Given the description of an element on the screen output the (x, y) to click on. 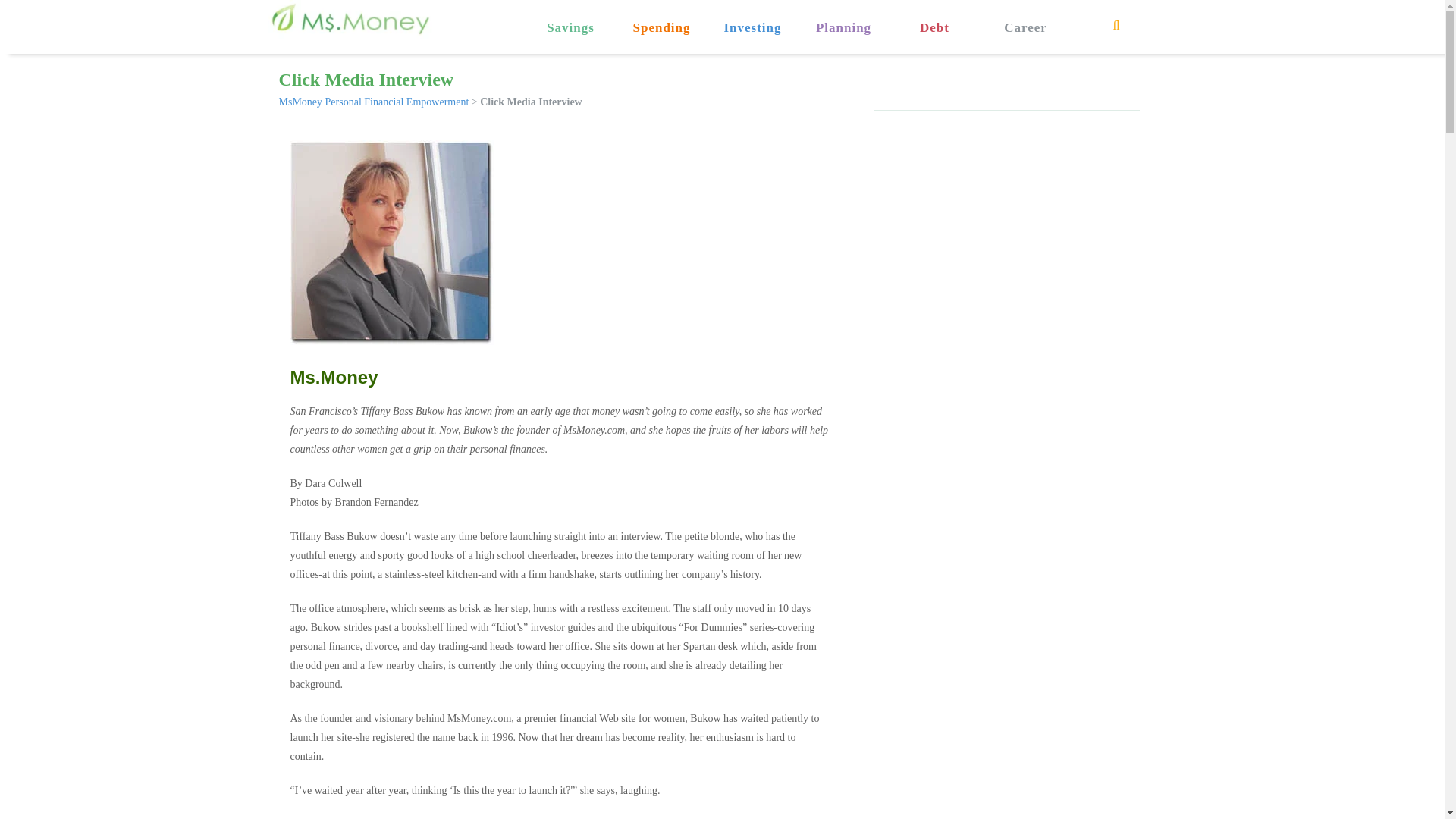
MsMoney Personal Financial Empowerment (373, 101)
Savings (570, 17)
Debt (934, 17)
Investing (752, 17)
Spending (660, 17)
Planning (842, 17)
Career (1024, 17)
MS Money (348, 19)
Go to MsMoney Personal Financial Empowerment. (373, 101)
